Given the description of an element on the screen output the (x, y) to click on. 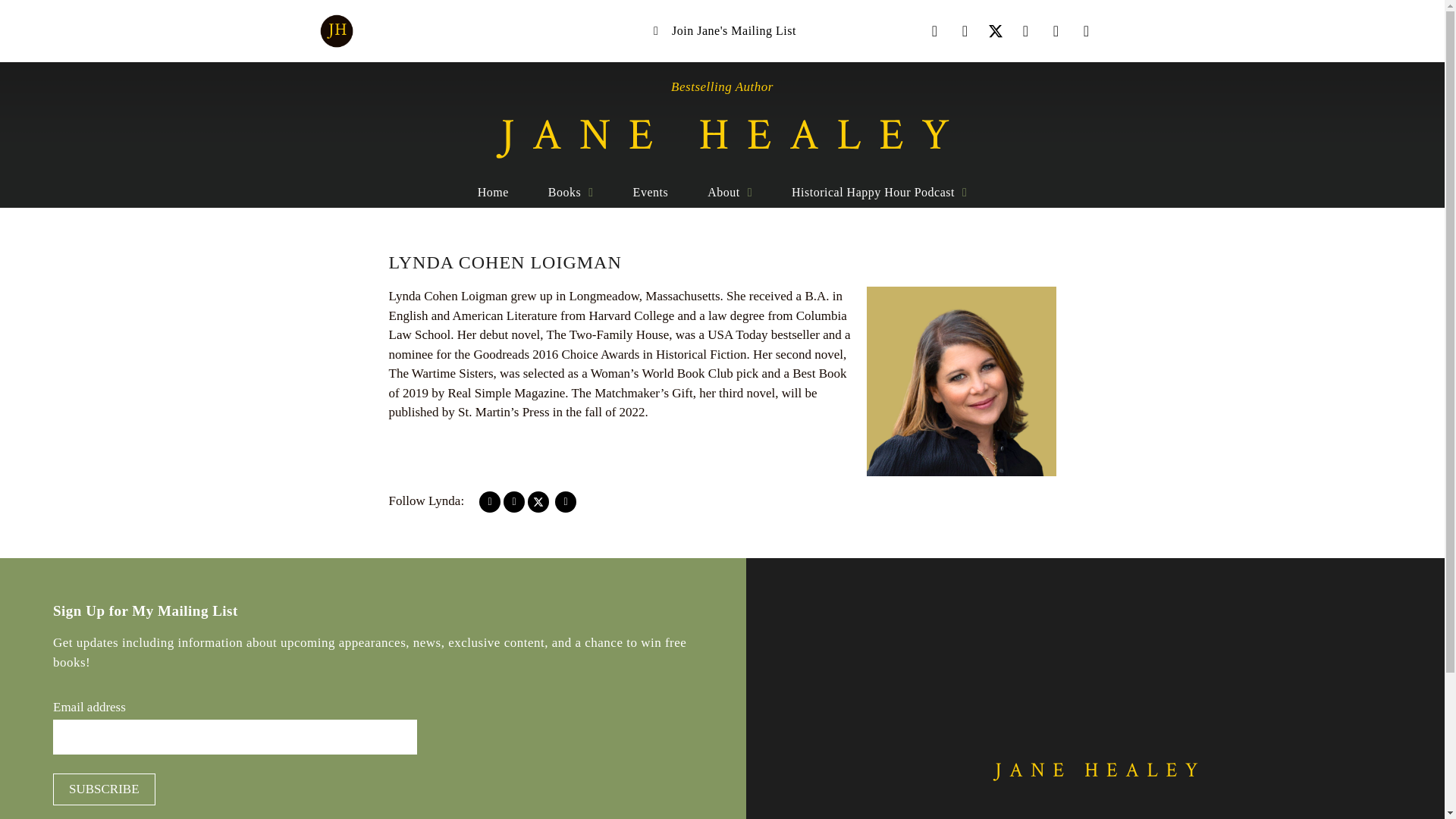
Subscribe (103, 789)
About (729, 192)
Events (650, 192)
Home (493, 192)
Historical Happy Hour Podcast (879, 192)
Books (570, 192)
Join Jane's Mailing List (722, 30)
